Given the description of an element on the screen output the (x, y) to click on. 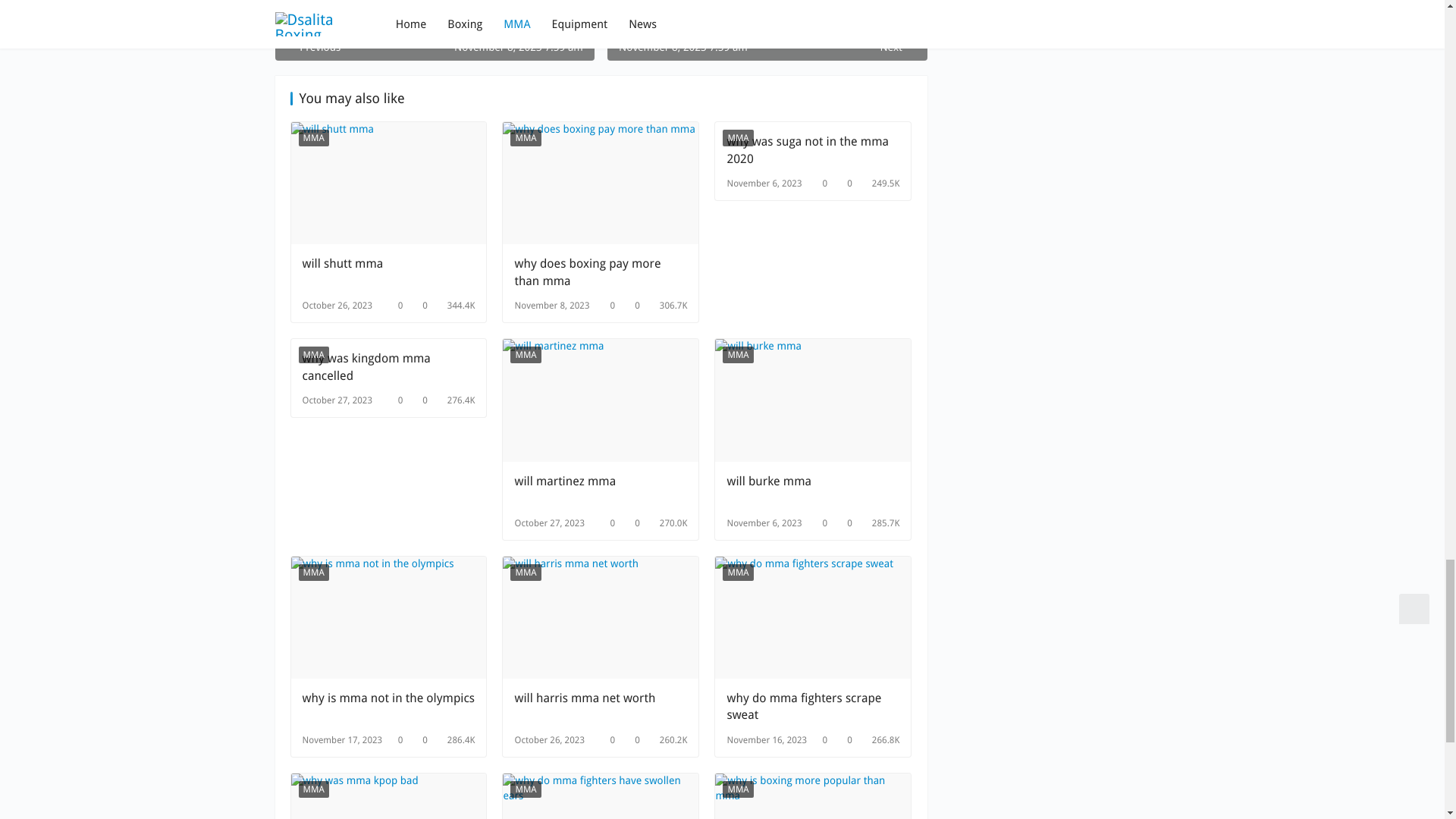
will martinez mma (600, 489)
who won the boxing match on saturday night (434, 30)
will shutt mma (387, 272)
MMA (525, 354)
MMA (737, 354)
why is mma not in the olympics (387, 706)
why does boxing pay more than mma (600, 183)
who won the boxing match on saturday night (434, 30)
will burke mma (812, 400)
why was kingdom mma cancelled (387, 367)
why does boxing pay more than mma (600, 272)
why was suga not in the mma 2020 (812, 150)
why was suga not in the mma 2020 (812, 150)
MMA (737, 137)
will harris mma net worth (600, 617)
